Given the description of an element on the screen output the (x, y) to click on. 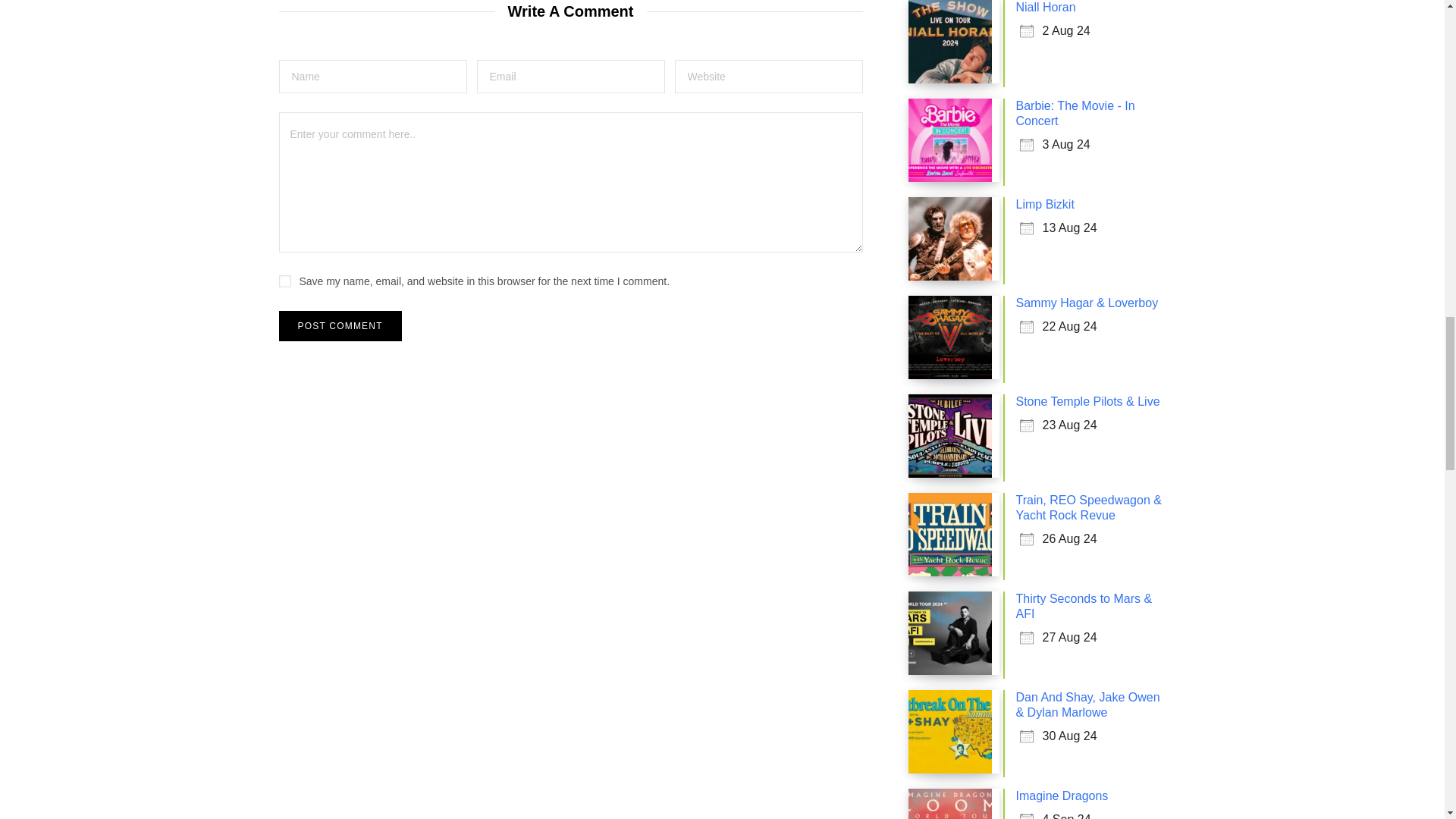
yes (285, 281)
Post Comment (340, 326)
Post Comment (340, 326)
Niall Horan (1045, 6)
Imagine Dragons (1062, 795)
Limp Bizkit (1045, 204)
Barbie: The Movie - In Concert (1075, 113)
